Given the description of an element on the screen output the (x, y) to click on. 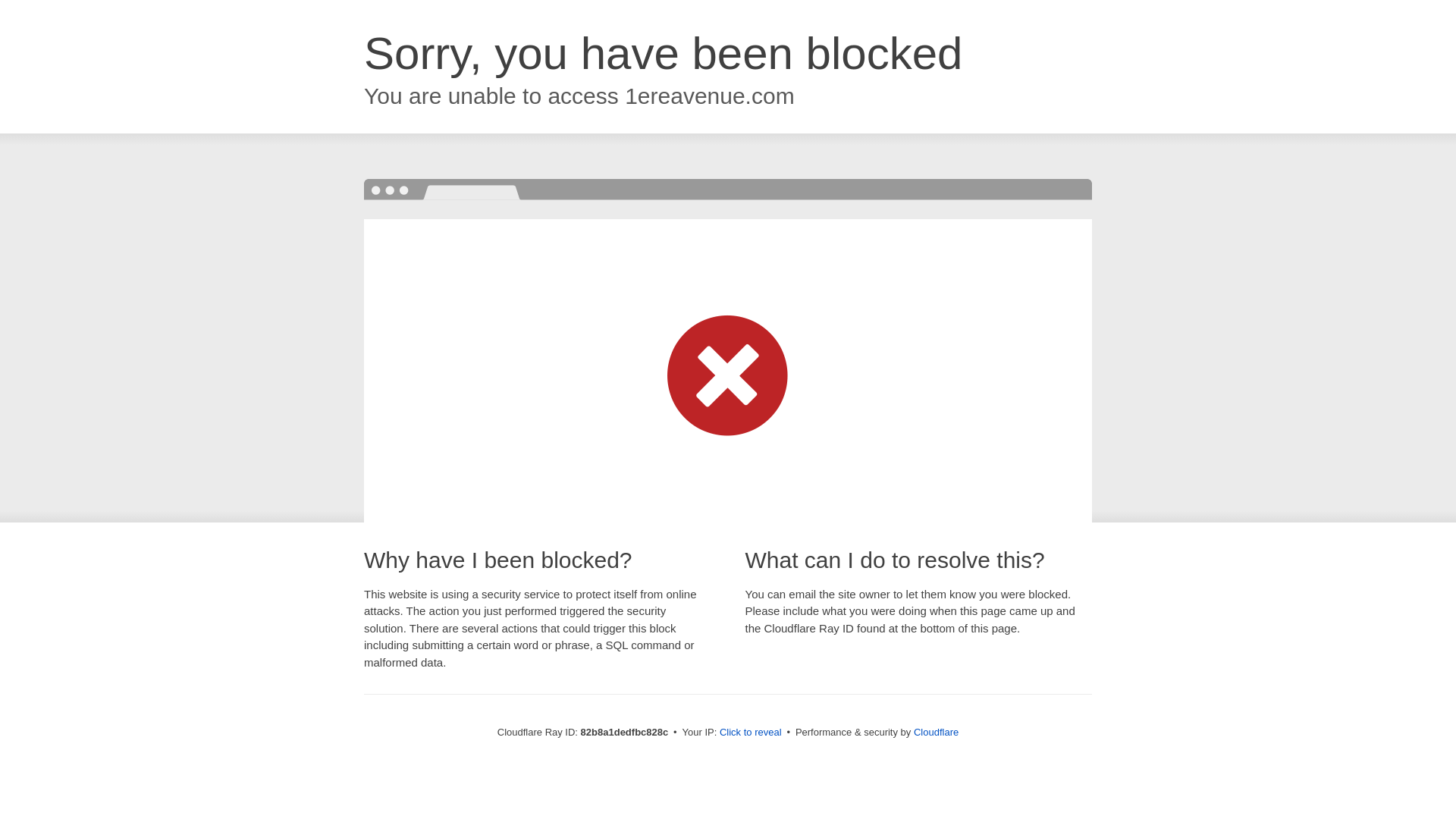
Click to reveal Element type: text (750, 732)
Cloudflare Element type: text (935, 731)
